Given the description of an element on the screen output the (x, y) to click on. 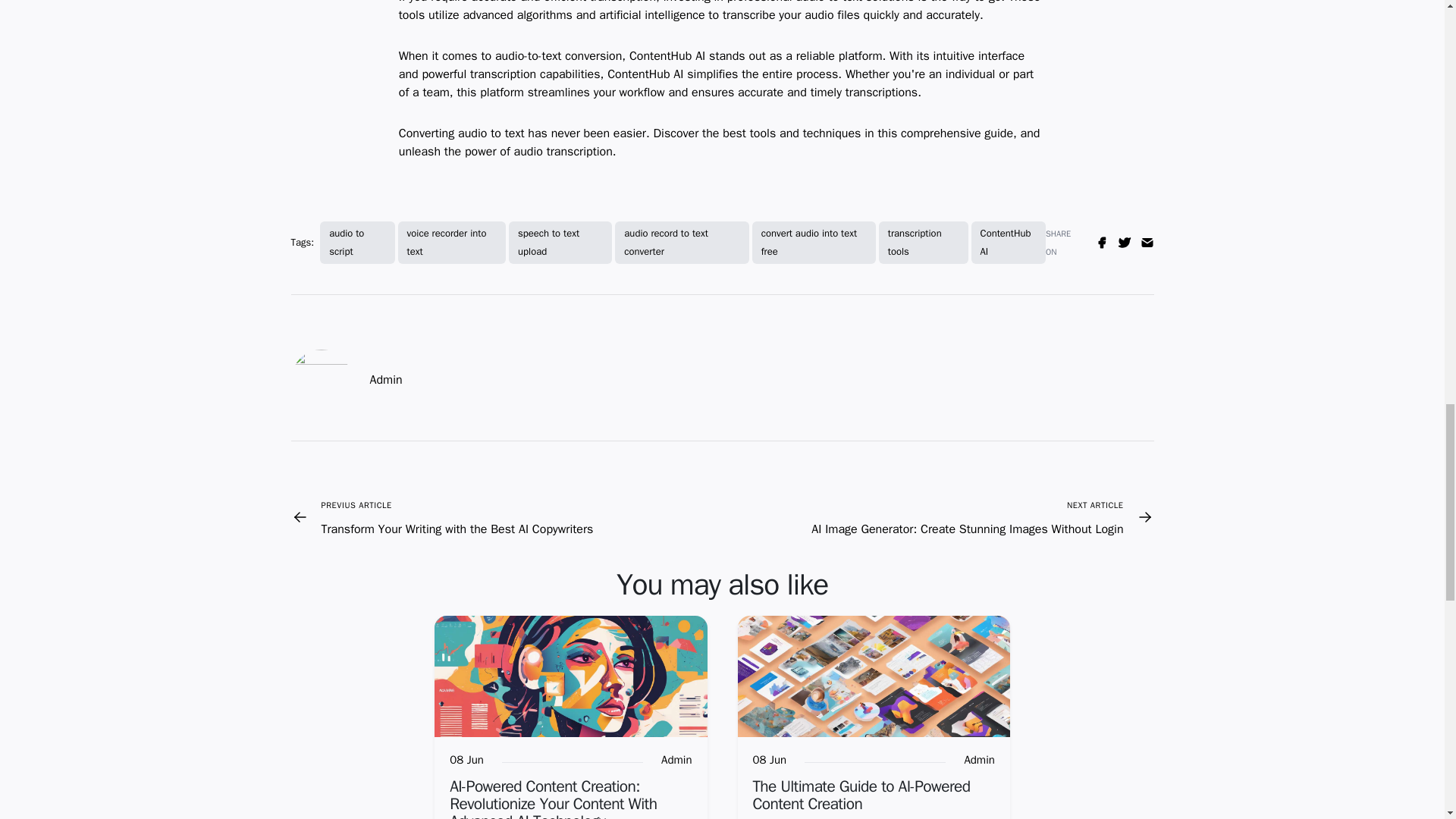
transcription tools (923, 242)
convert audio into text free (814, 242)
Admin (978, 760)
speech to text upload (559, 242)
audio record to text converter (681, 242)
voice recorder into text (451, 242)
audio to script (357, 242)
ContentHub AI (1008, 242)
